Given the description of an element on the screen output the (x, y) to click on. 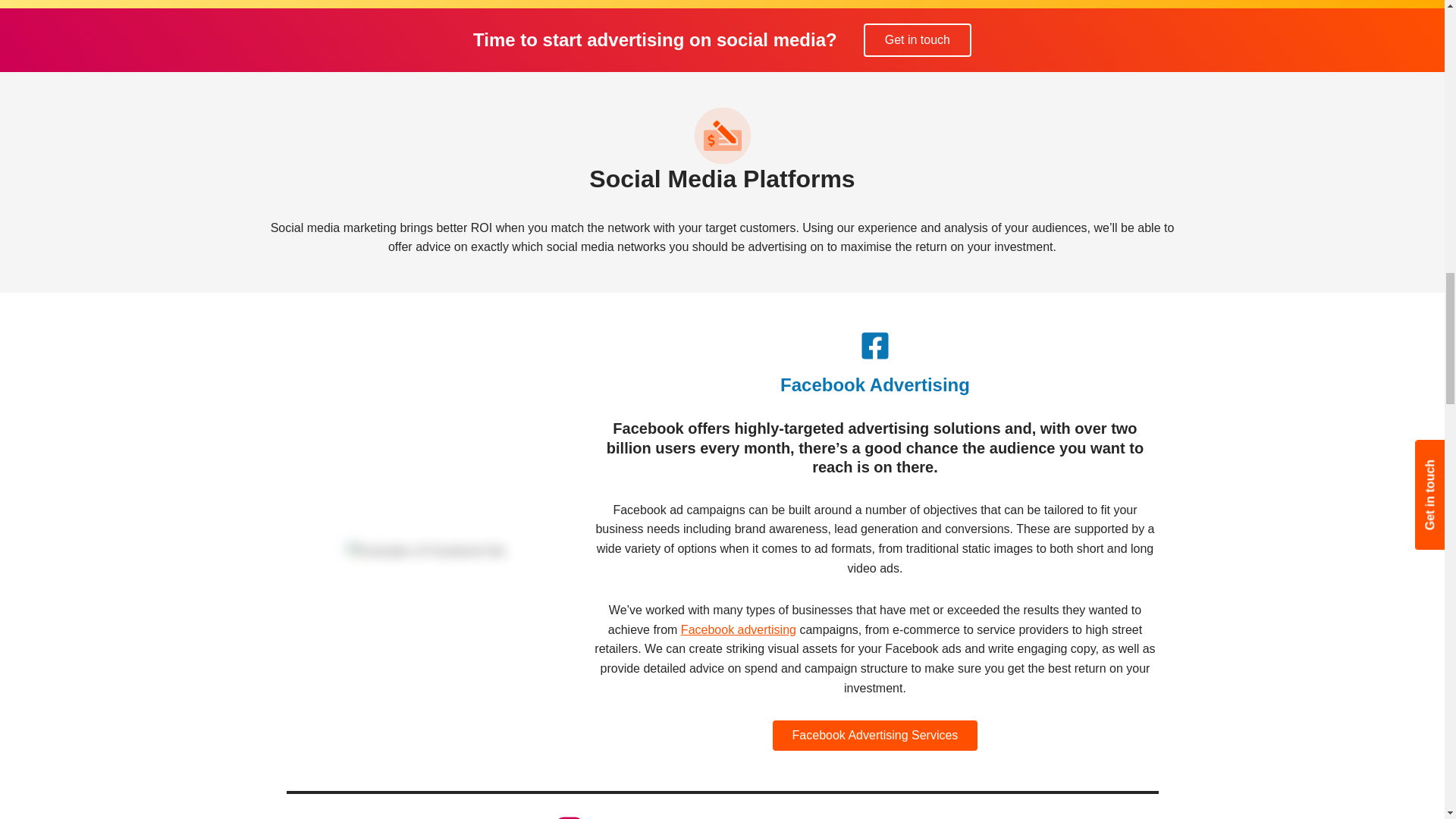
Social Media Advertising 2 (425, 551)
